Given the description of an element on the screen output the (x, y) to click on. 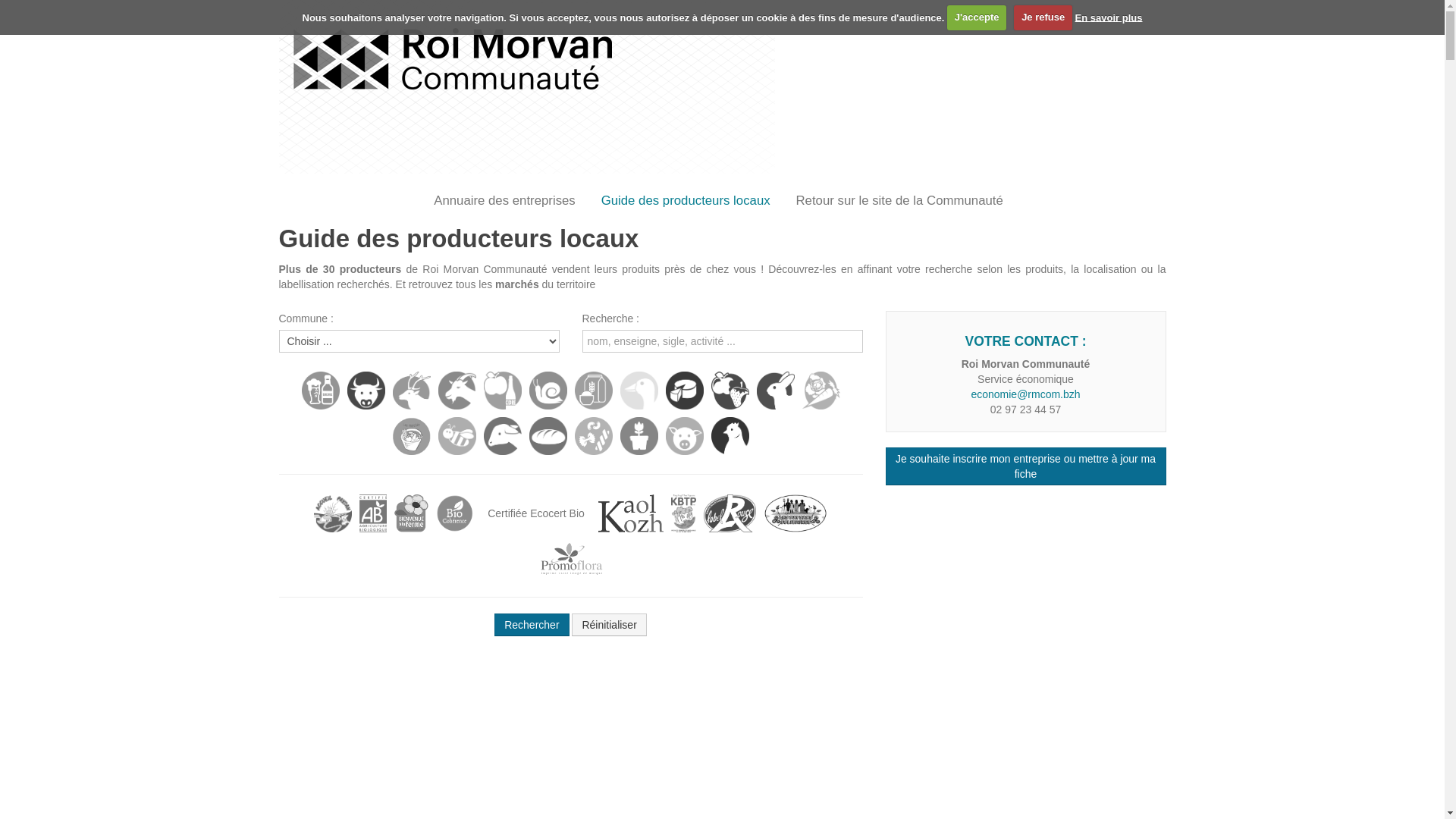
economie@rmcom.bzh Element type: text (1024, 394)
Je refuse Element type: text (1042, 16)
En savoir plus Element type: text (1108, 16)
Guide des producteurs locaux Element type: text (685, 200)
Rechercher Element type: text (531, 624)
J'accepte Element type: text (976, 16)
Annuaire des entreprises Element type: text (504, 200)
